Given the description of an element on the screen output the (x, y) to click on. 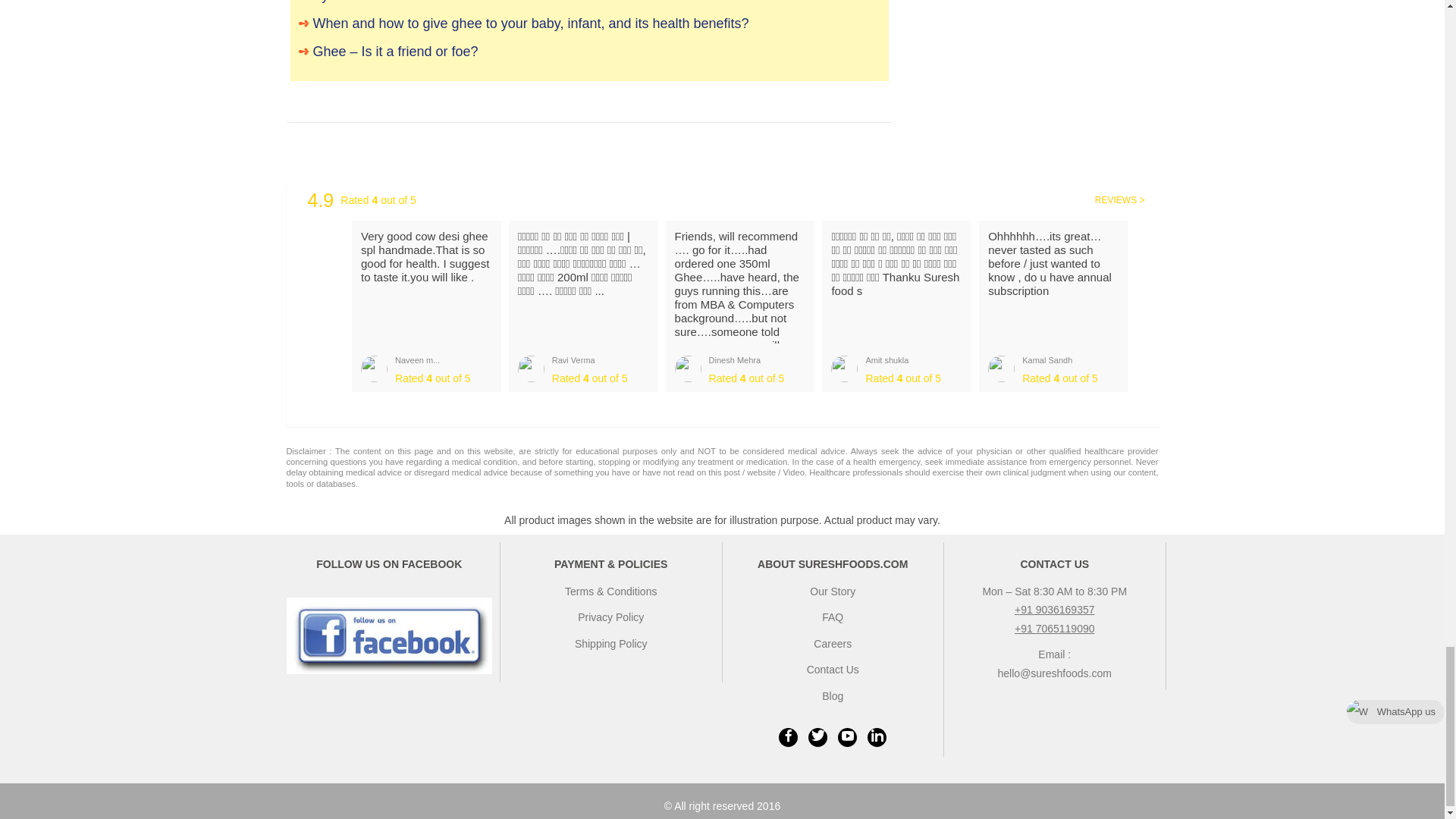
Careers (832, 644)
Follow Us on Facebook (389, 635)
FAQ (832, 616)
Blog (832, 695)
Twitter (817, 737)
Our Story (832, 591)
Privacy Policy (610, 616)
Shipping Policy (611, 644)
Contact Us (832, 669)
